Given the description of an element on the screen output the (x, y) to click on. 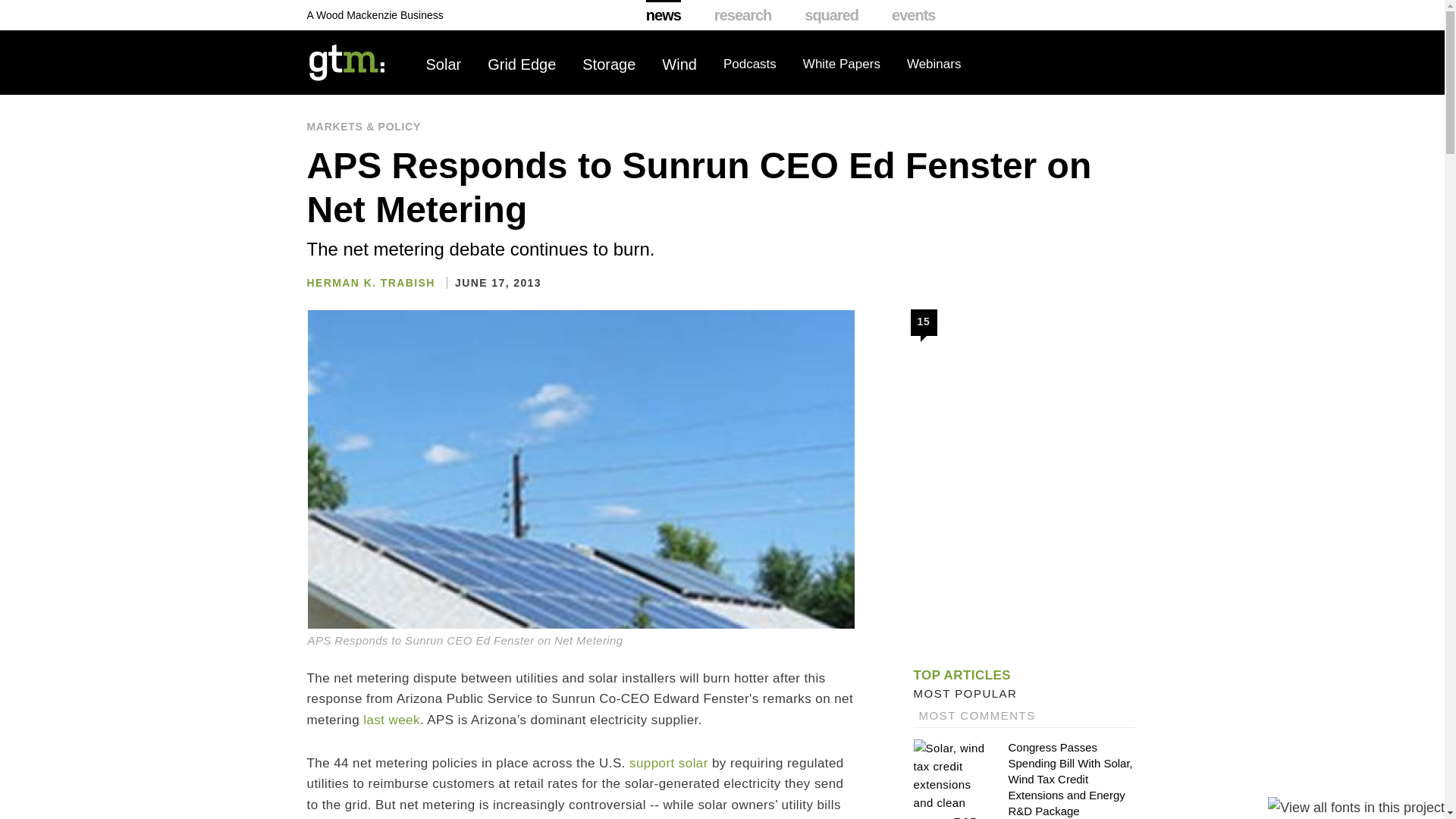
Grid Edge (521, 64)
White Papers (841, 64)
Podcasts (749, 64)
Solar (443, 64)
news (663, 15)
squared (832, 15)
events (912, 15)
research (742, 15)
Storage (608, 64)
Wind (679, 64)
